Given the description of an element on the screen output the (x, y) to click on. 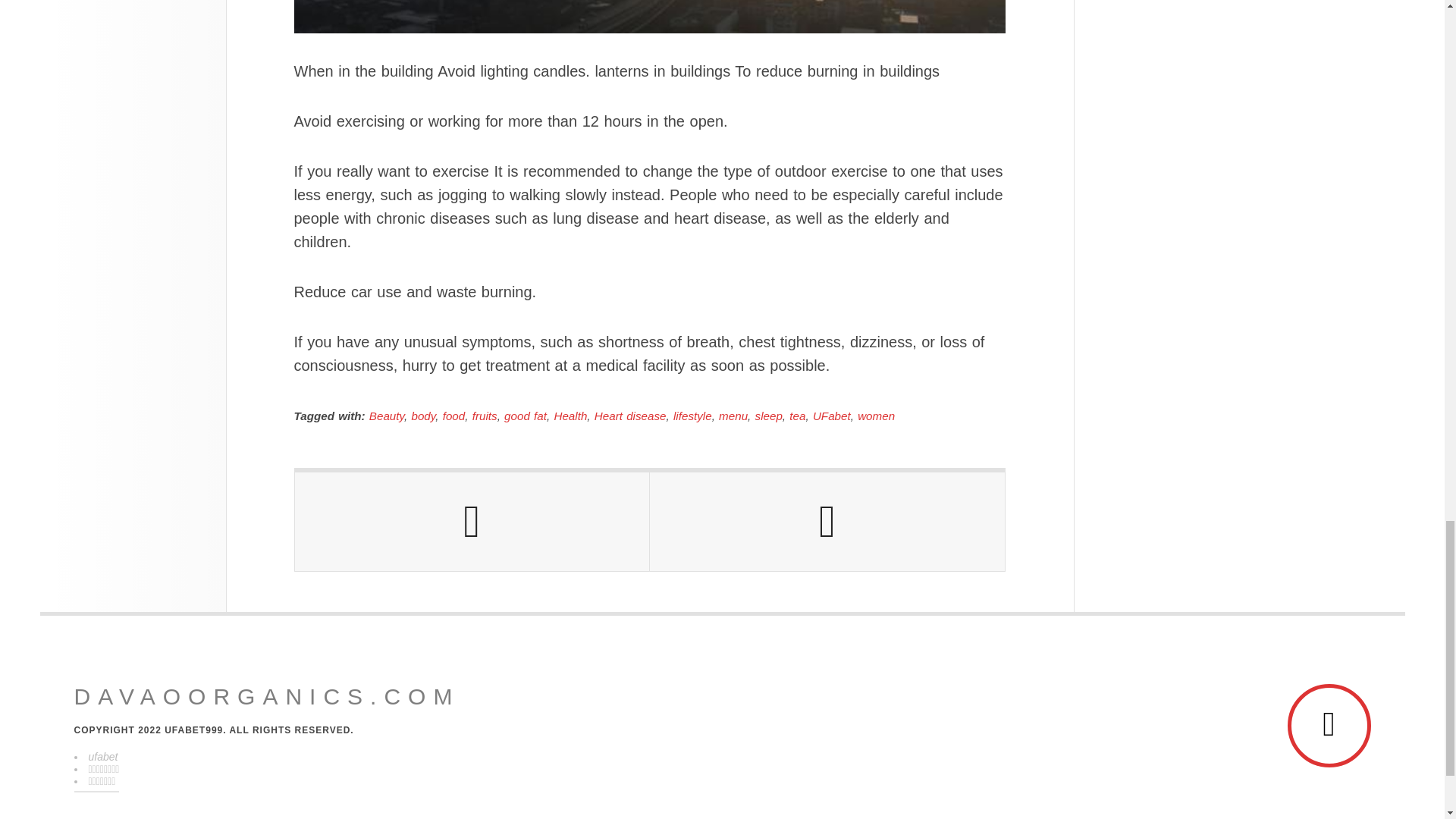
Heart disease (630, 415)
women (876, 415)
tea (797, 415)
food (453, 415)
davaoorganics.com (267, 696)
fruits (484, 415)
lifestyle (691, 415)
Beauty (386, 415)
Previous Post (471, 521)
Health (569, 415)
sleep (769, 415)
good fat (525, 415)
body (422, 415)
menu (733, 415)
UFabet (831, 415)
